Given the description of an element on the screen output the (x, y) to click on. 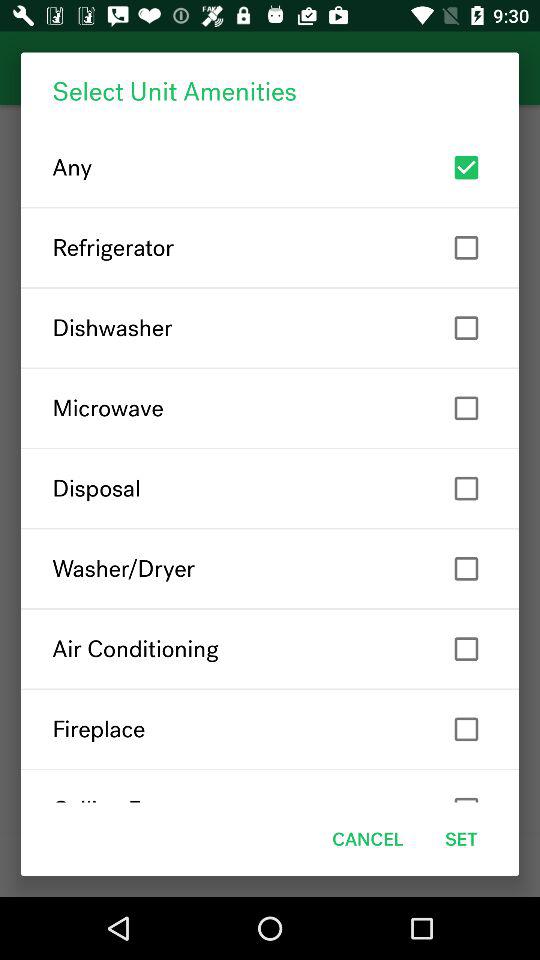
choose icon above the disposal icon (270, 408)
